Given the description of an element on the screen output the (x, y) to click on. 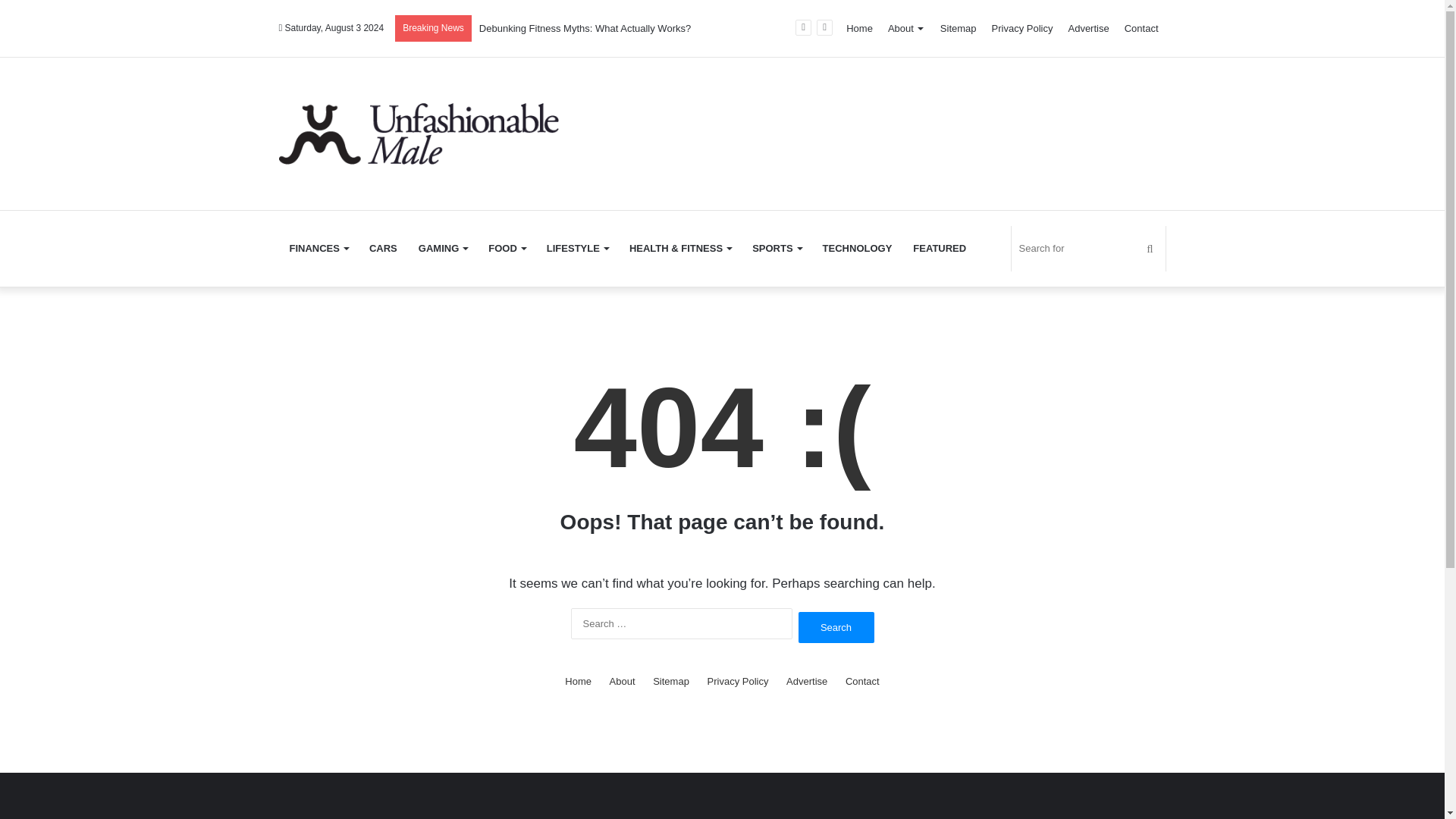
FOOD (506, 248)
FINANCES (318, 248)
GAMING (442, 248)
FEATURED (939, 248)
Search for (1088, 248)
Privacy Policy (1022, 28)
About (622, 681)
Search (835, 626)
Sitemap (958, 28)
Contact (1141, 28)
Home (859, 28)
Debunking Fitness Myths: What Actually Works? (584, 28)
Unfashionablemale (419, 133)
SPORTS (775, 248)
CARS (382, 248)
